Given the description of an element on the screen output the (x, y) to click on. 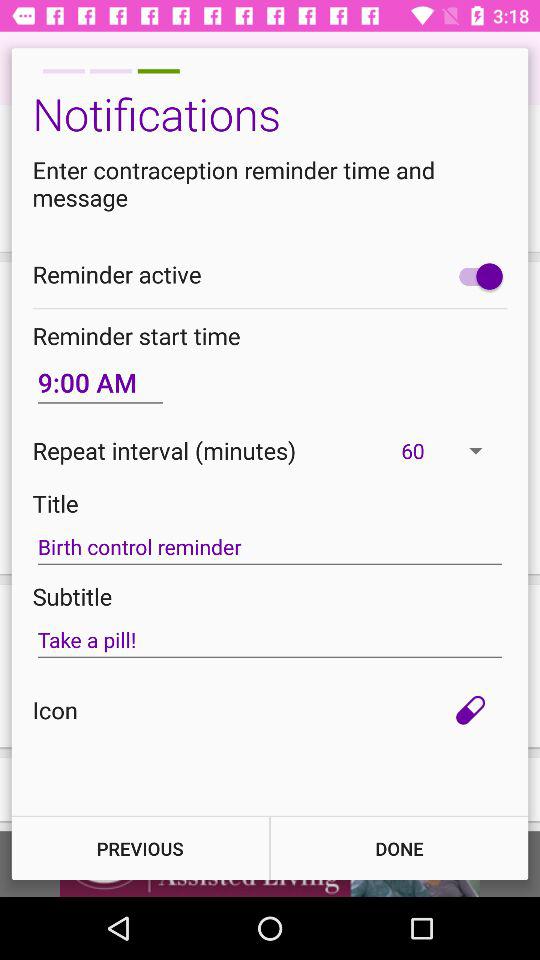
launch take a pill! icon (269, 640)
